Given the description of an element on the screen output the (x, y) to click on. 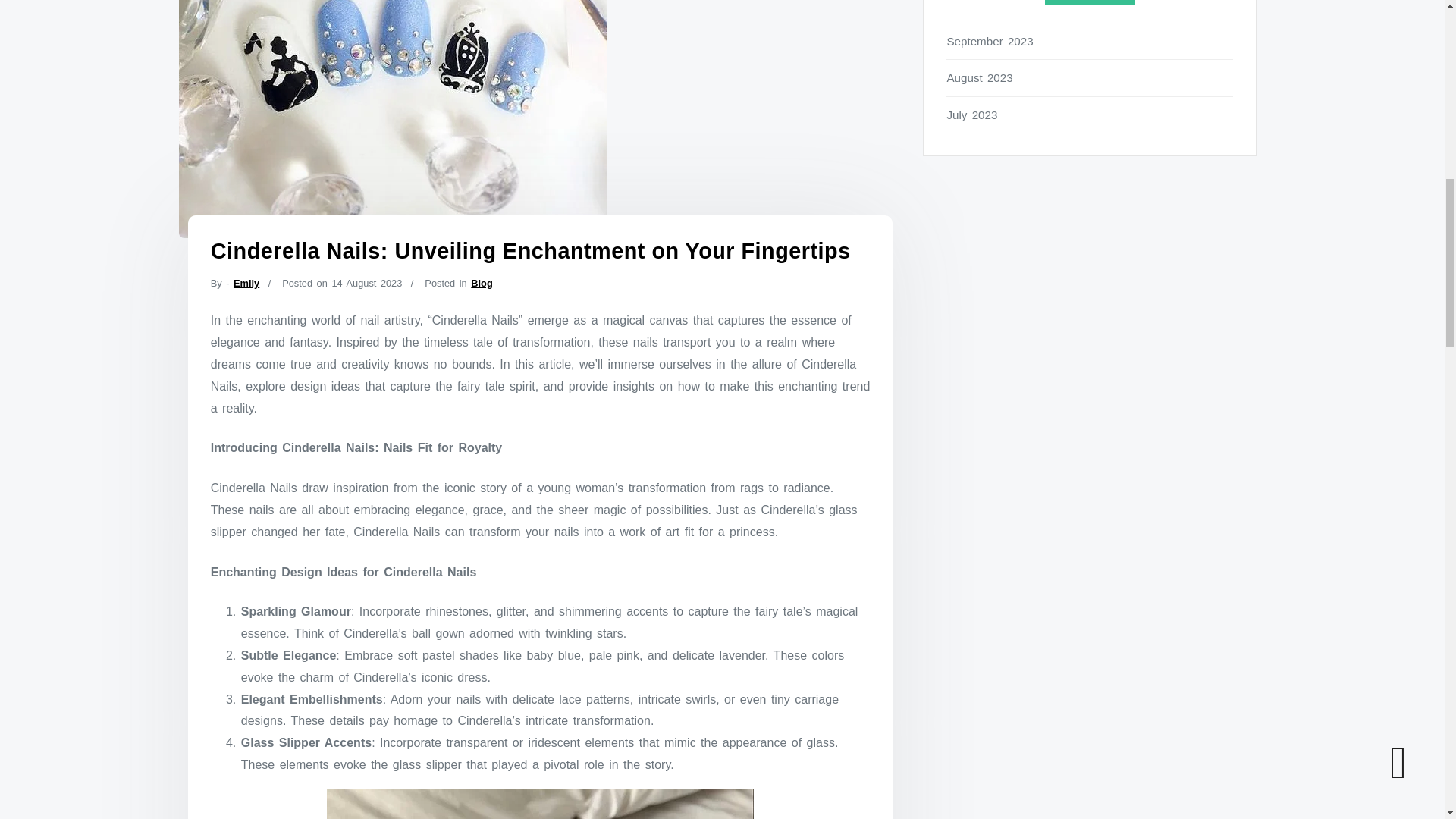
September 2023 (1089, 41)
Emily (245, 283)
Blog (481, 283)
July 2023 (1089, 114)
August 2023 (1089, 77)
